Given the description of an element on the screen output the (x, y) to click on. 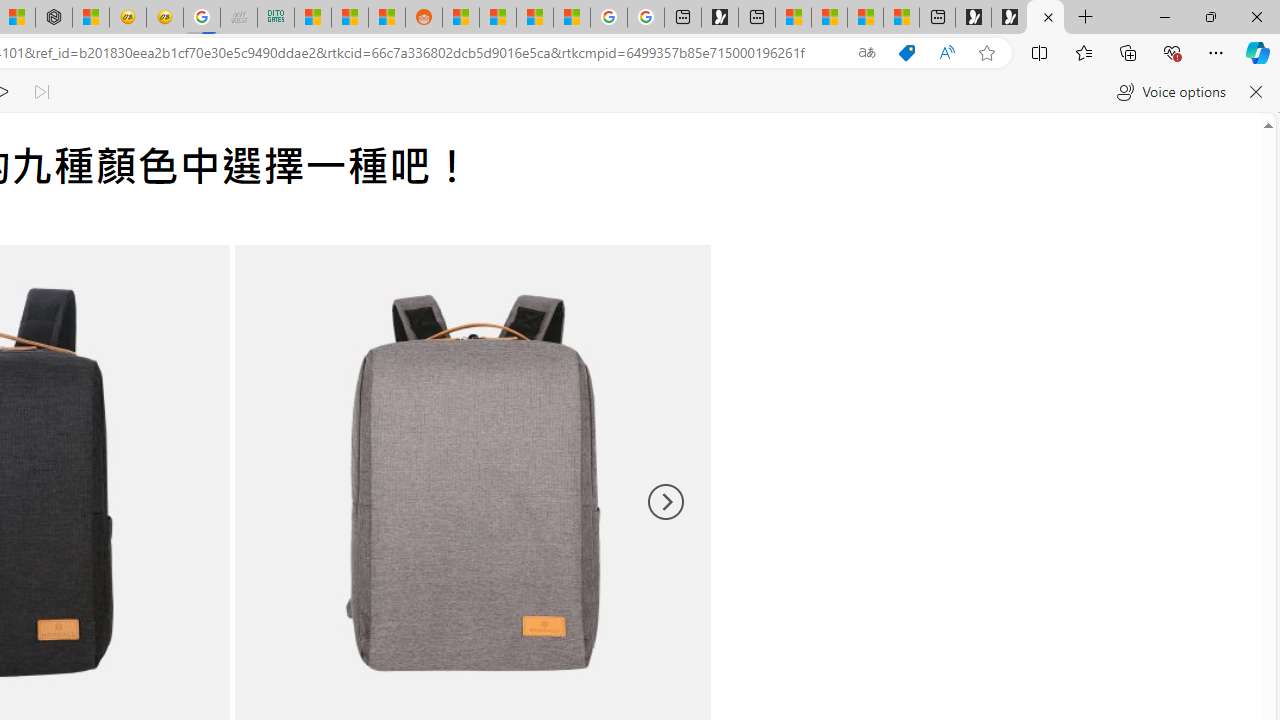
This site has coupons! Shopping in Microsoft Edge (906, 53)
Voice options (1170, 92)
